Given the description of an element on the screen output the (x, y) to click on. 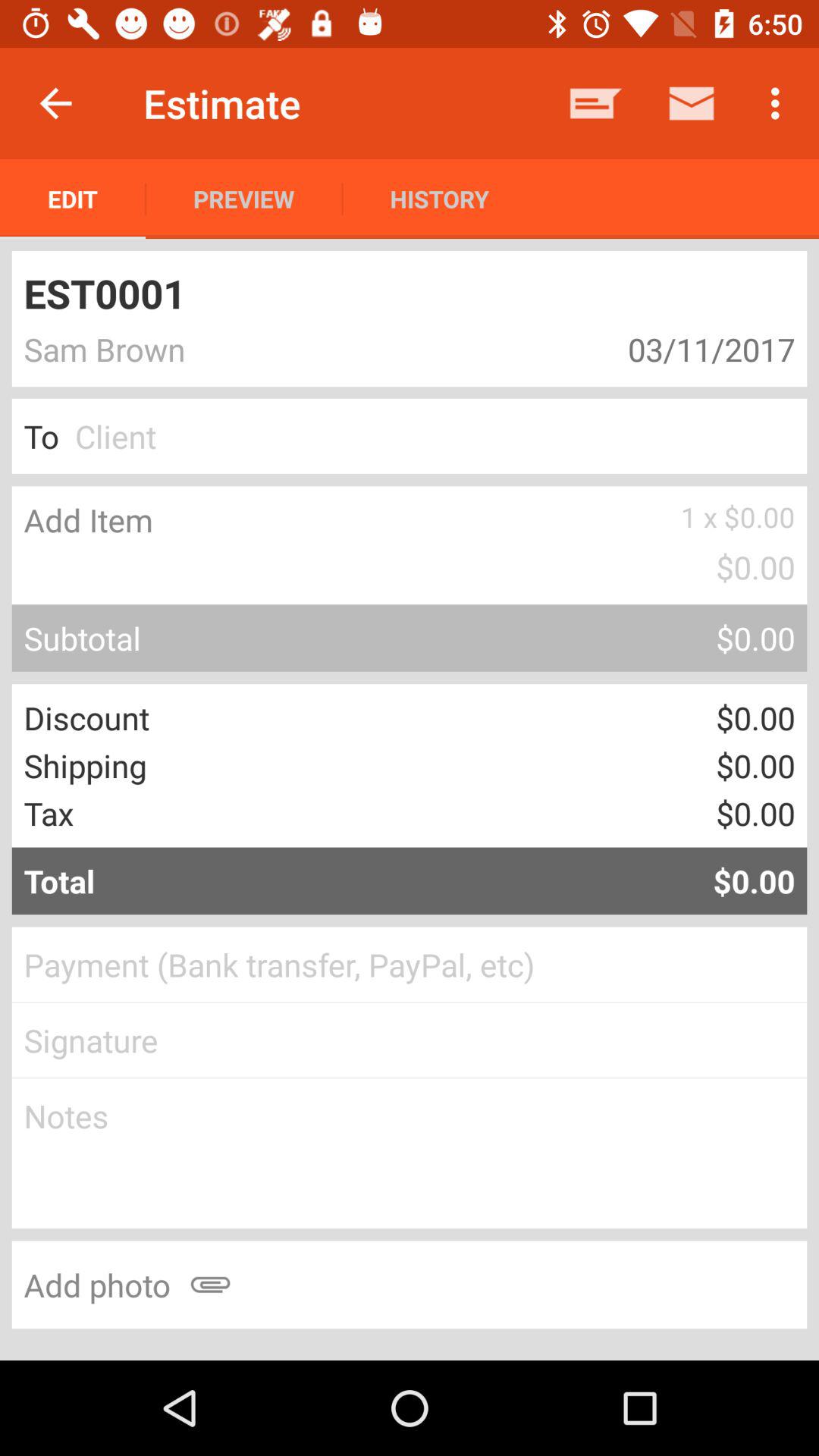
type on notes (409, 1153)
